Given the description of an element on the screen output the (x, y) to click on. 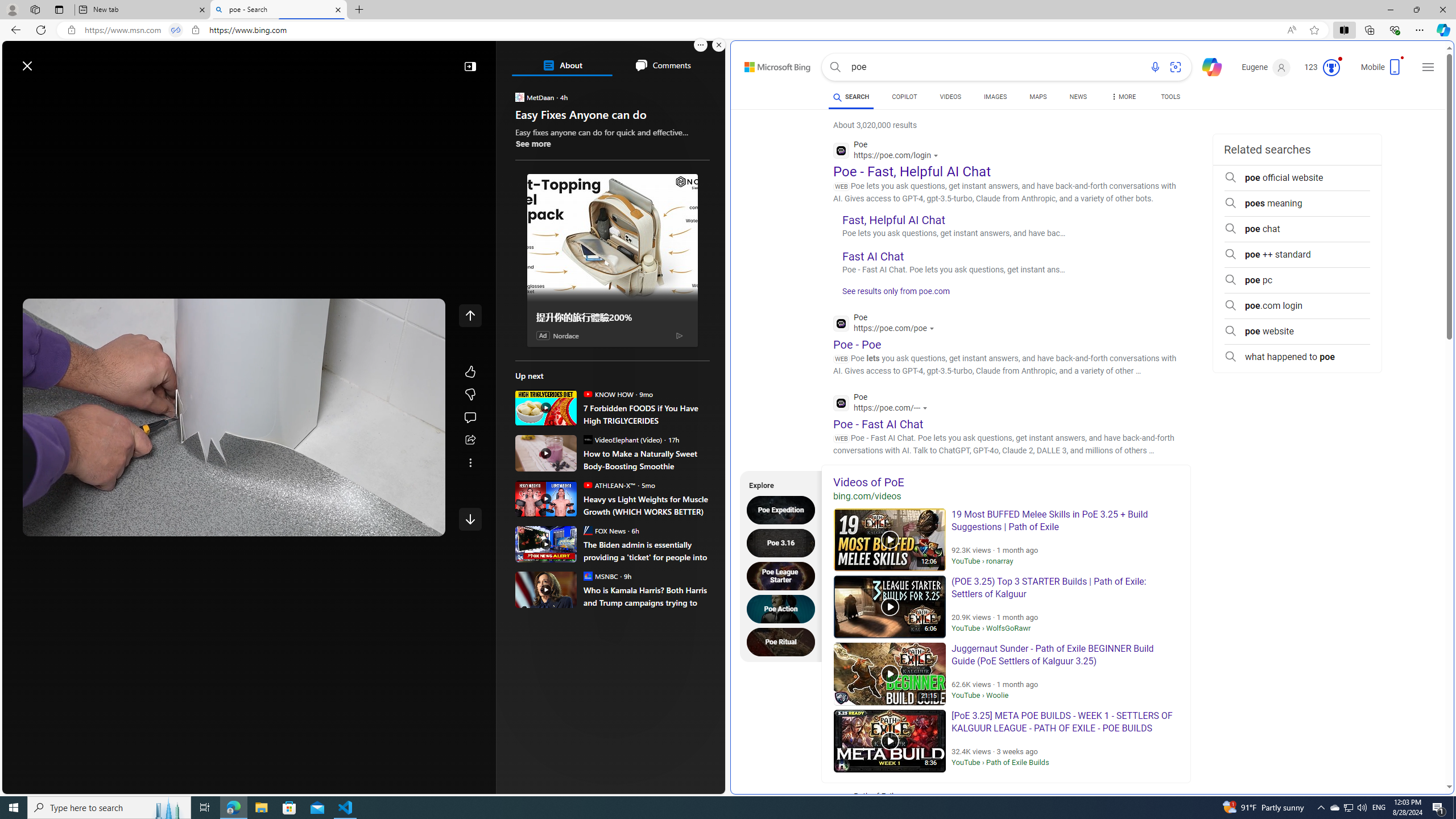
How to Make a Naturally Sweet Body-Boosting Smoothie (646, 459)
Summer Sale! Up to -55% (616, 571)
Close split screen. (719, 45)
Eugene (1266, 67)
Class: control icon-only (469, 315)
Seek Forward (85, 523)
FOX News FOX News (604, 529)
